Given the description of an element on the screen output the (x, y) to click on. 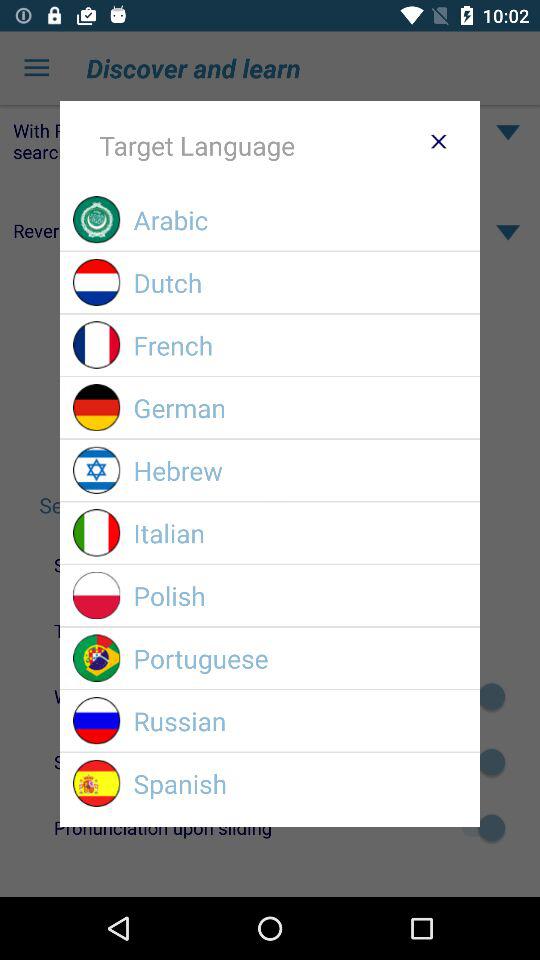
choose item below arabic item (300, 282)
